Given the description of an element on the screen output the (x, y) to click on. 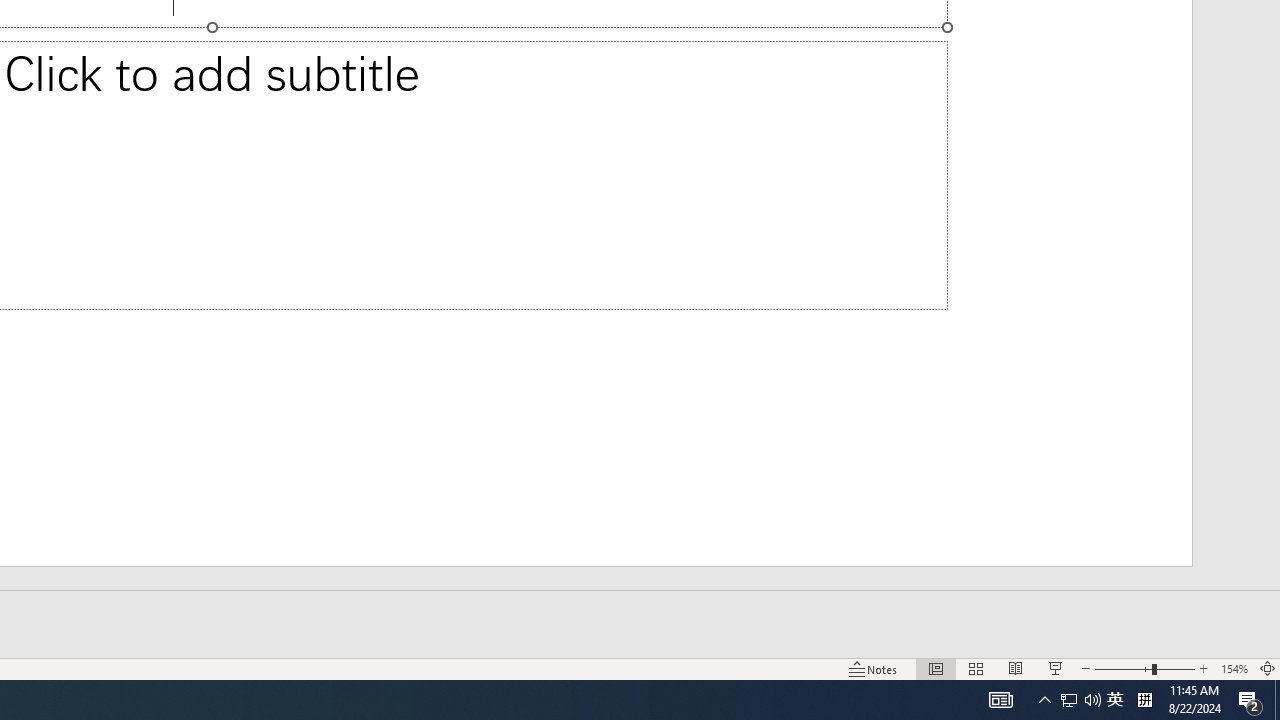
Zoom 154% (1234, 668)
